Given the description of an element on the screen output the (x, y) to click on. 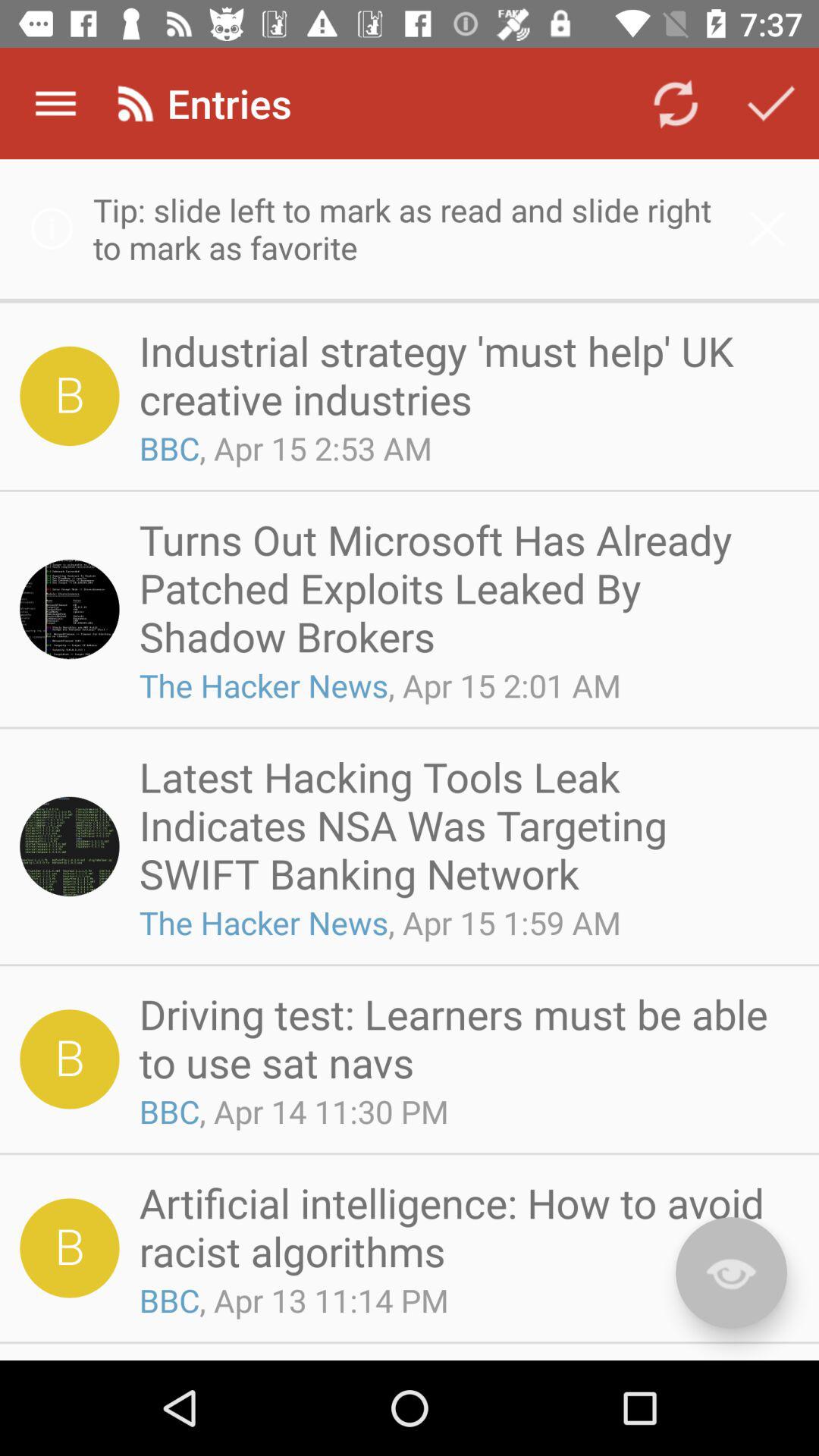
choose the icon to the right of the entries icon (675, 103)
